Given the description of an element on the screen output the (x, y) to click on. 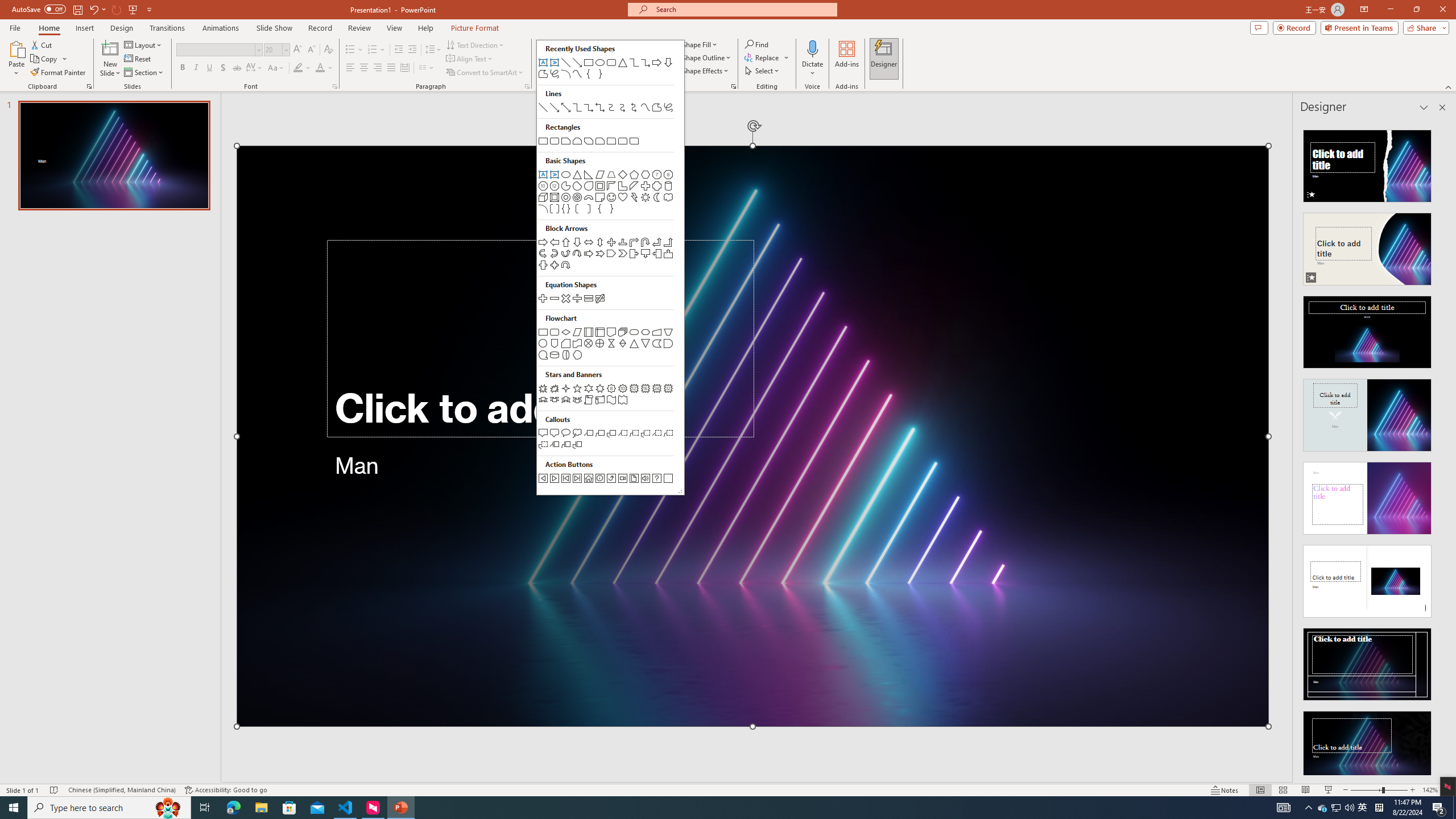
Class: NetUIImage (1367, 746)
Designer (883, 58)
Font... (334, 85)
